Given the description of an element on the screen output the (x, y) to click on. 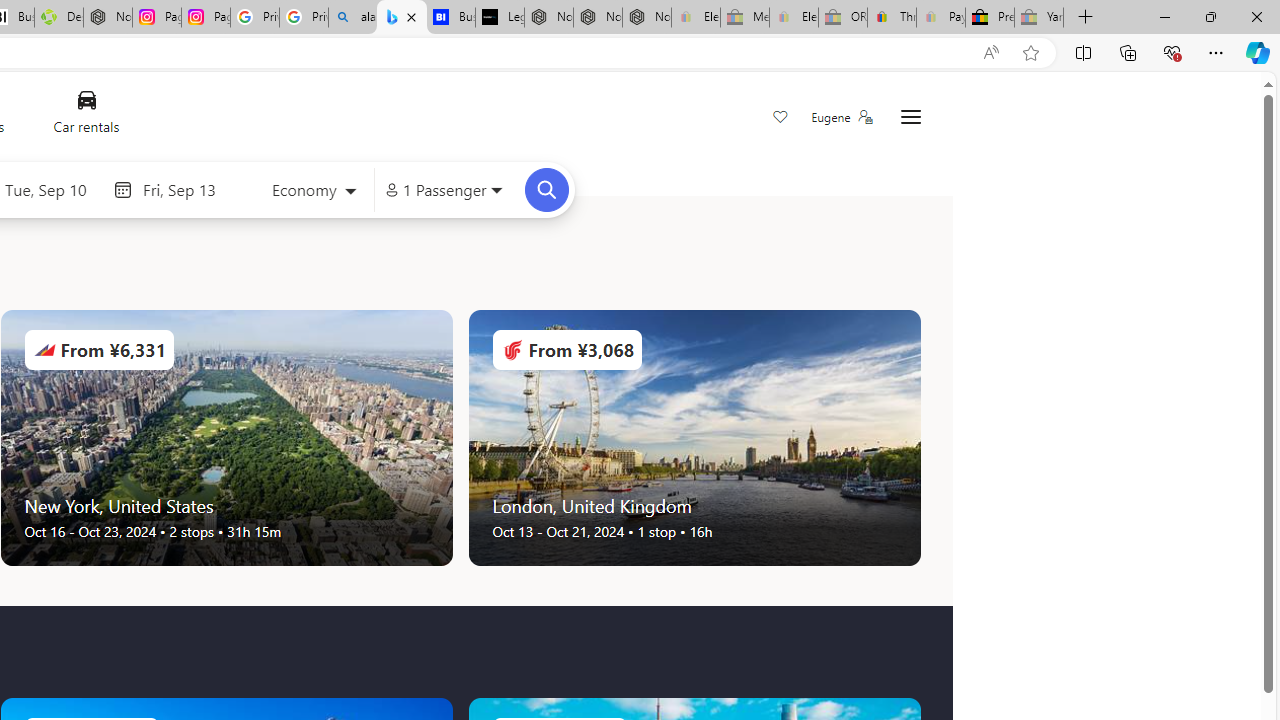
Press Room - eBay Inc. (989, 17)
1 Passenger (443, 189)
Threats and offensive language policy | eBay (891, 17)
Click to scroll right (920, 437)
Payments Terms of Use | eBay.com - Sleeping (940, 17)
